Given the description of an element on the screen output the (x, y) to click on. 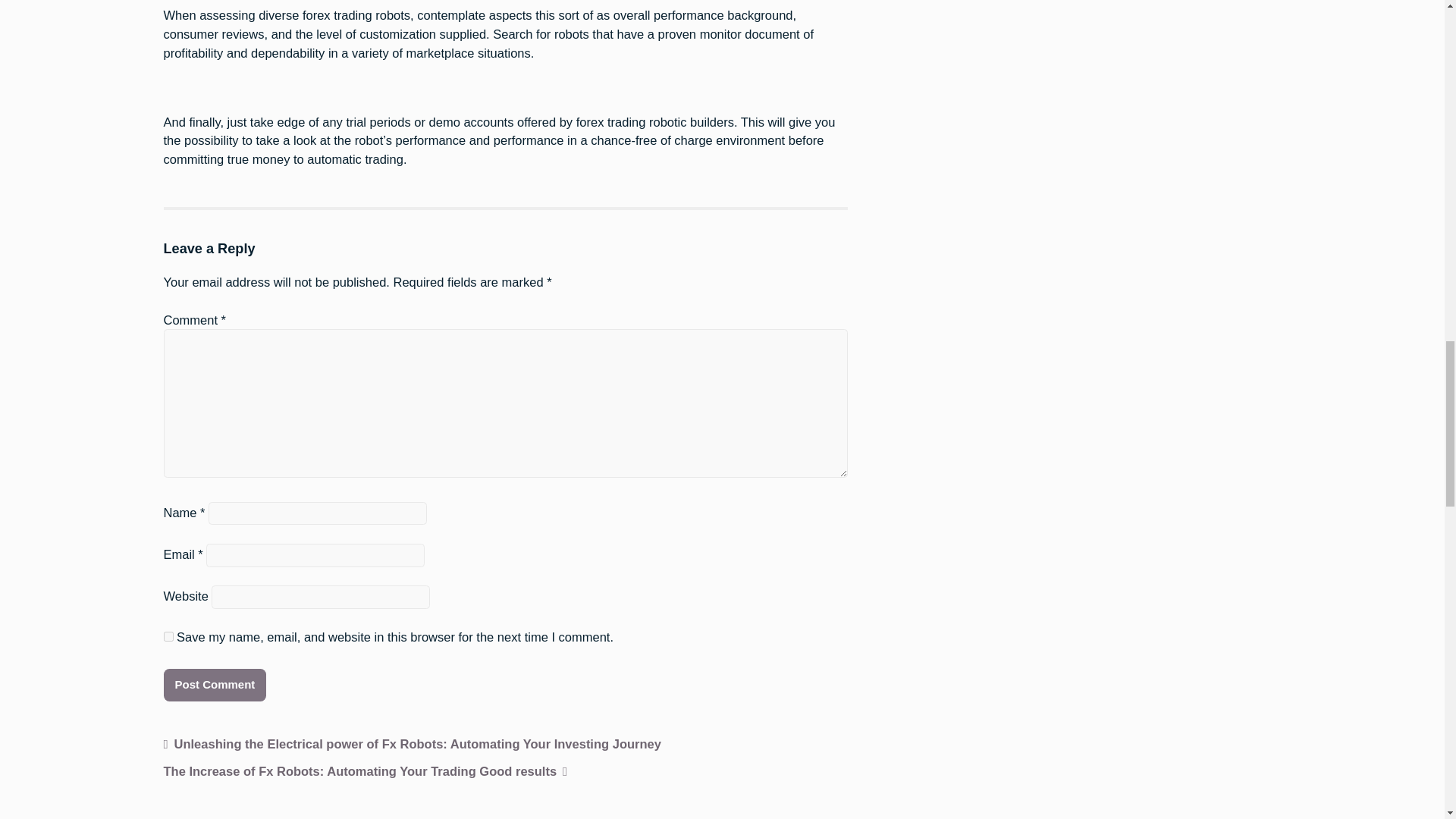
Post Comment (214, 685)
Post Comment (214, 685)
yes (168, 636)
